Given the description of an element on the screen output the (x, y) to click on. 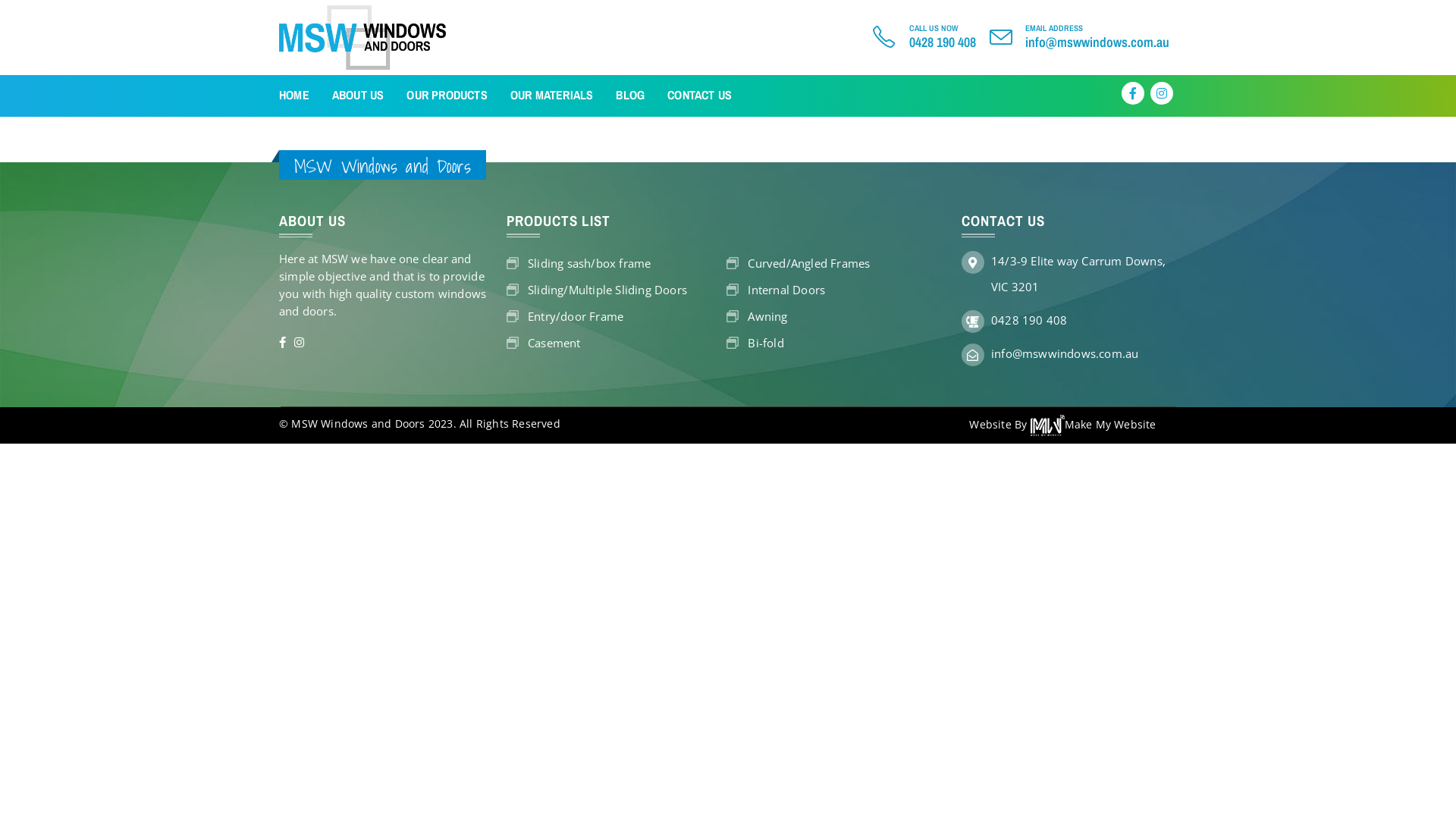
BLOG Element type: text (629, 95)
ABOUT US Element type: text (358, 95)
OUR PRODUCTS Element type: text (446, 95)
CONTACT US Element type: text (699, 95)
OUR MATERIALS Element type: text (551, 95)
Website By Make My Website Element type: text (1062, 424)
HOME Element type: text (294, 95)
